Given the description of an element on the screen output the (x, y) to click on. 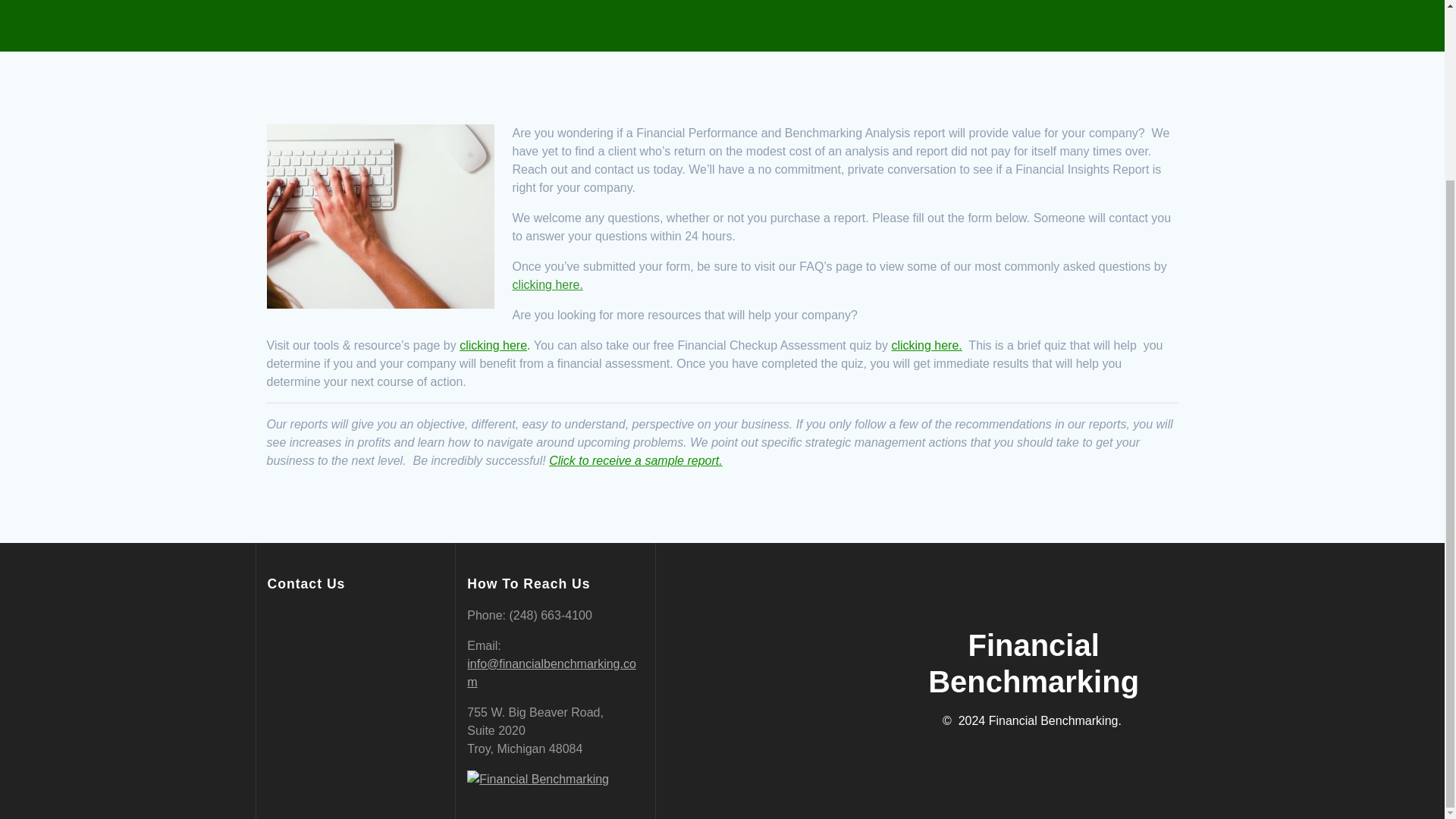
Click to receive a sample report. (635, 460)
clicking here (493, 345)
clicking here. (547, 284)
clicking here. (925, 345)
